Given the description of an element on the screen output the (x, y) to click on. 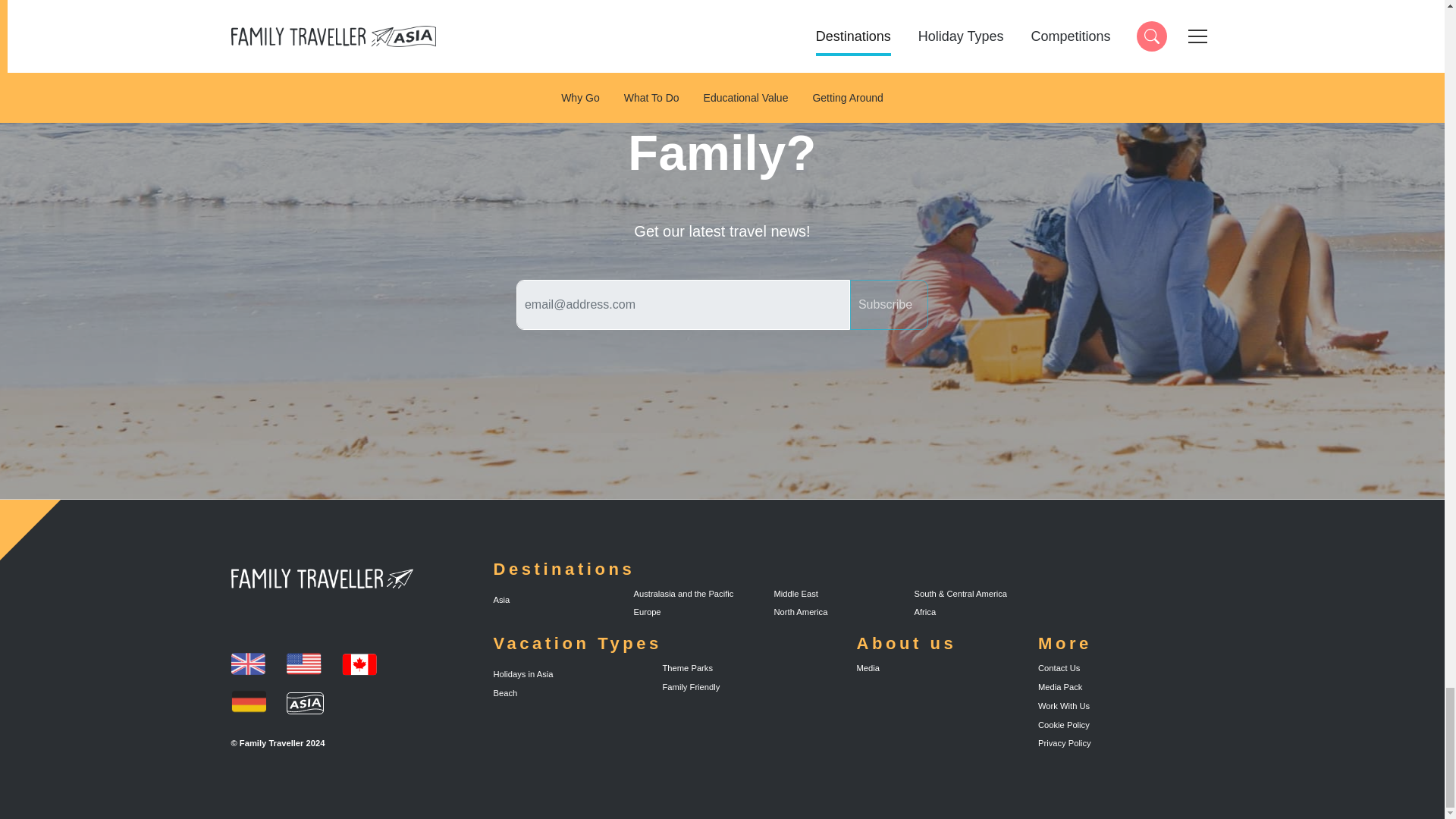
Visit Family Traveller DE (234, 612)
Visit Family Traveller USA (247, 701)
Subscribe (303, 664)
Visit Family Traveller Canada (889, 305)
Visit Family Traveller Asia (359, 664)
Visit Family Traveller UK (243, 612)
